Given the description of an element on the screen output the (x, y) to click on. 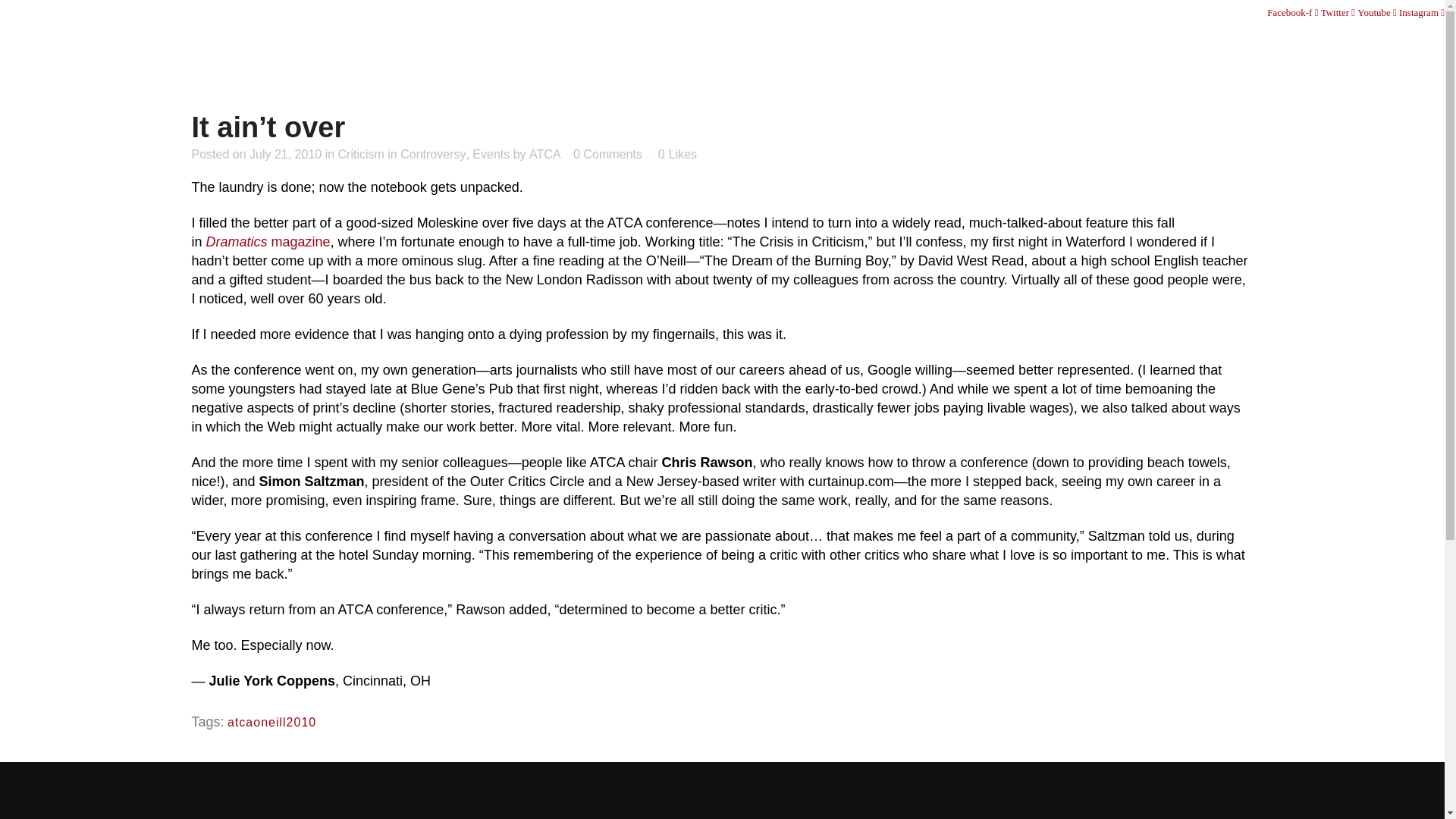
COMMENTARY (1284, 44)
Like this (677, 154)
MEMBERSHIP (999, 44)
Youtube (1377, 12)
CONTACT US (1126, 12)
SEARCH (1231, 12)
AWARDS (1180, 44)
DONATE (1184, 12)
EVENTS (1098, 44)
Twitter (1339, 12)
